Given the description of an element on the screen output the (x, y) to click on. 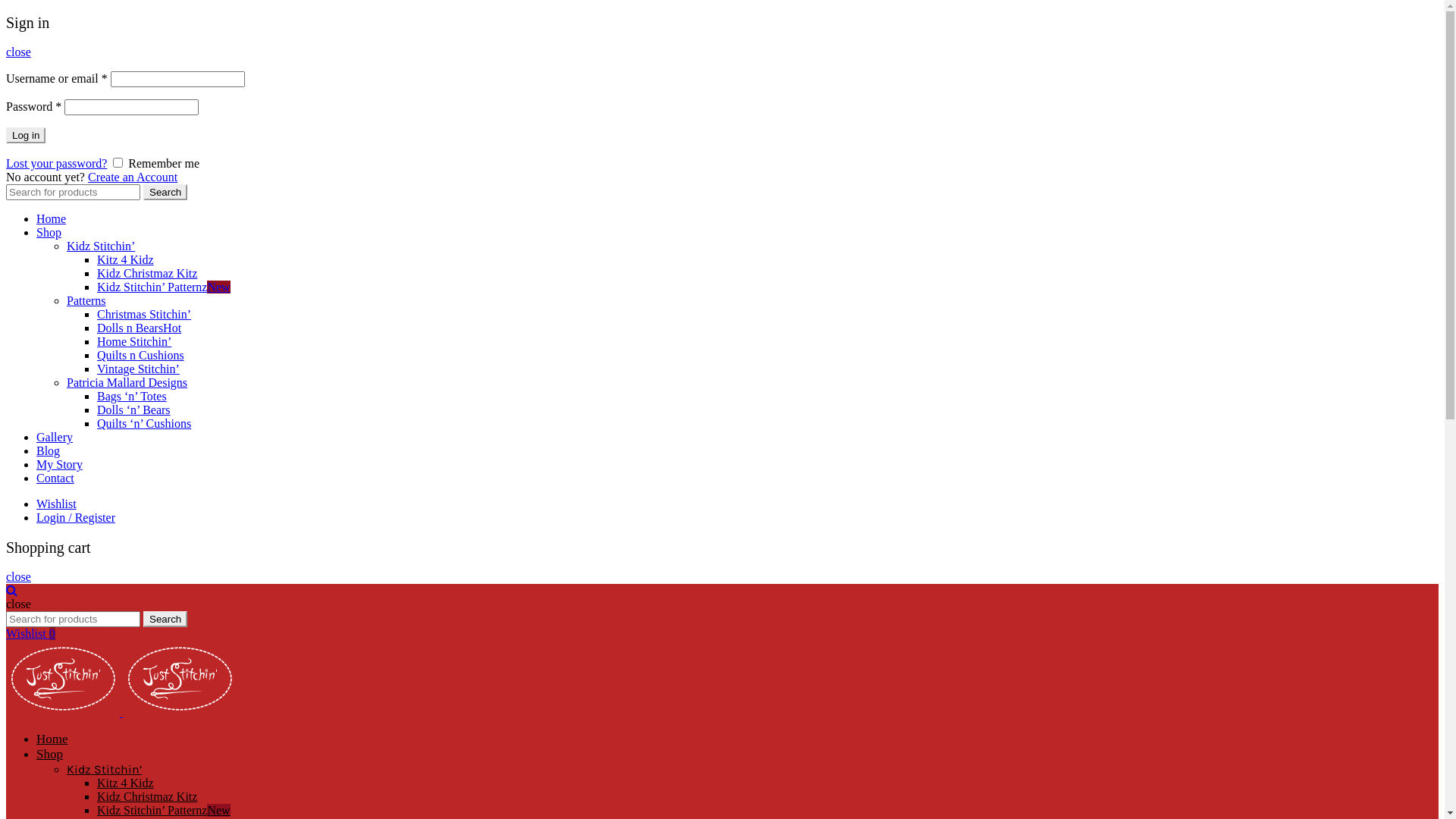
Patterns Element type: text (86, 300)
My Story Element type: text (59, 464)
Kidz Christmaz Kitz Element type: text (147, 796)
Kitz 4 Kidz Element type: text (125, 782)
Quilts n Cushions Element type: text (140, 354)
Shop Element type: text (48, 231)
Wishlist Element type: text (56, 503)
Blog Element type: text (47, 450)
Dolls n BearsHot Element type: text (139, 327)
Home Element type: text (50, 218)
Gallery Element type: text (54, 436)
Search Element type: text (165, 619)
Lost your password? Element type: text (56, 162)
Shop Element type: text (49, 753)
close Element type: text (18, 51)
Create an Account Element type: text (132, 176)
Log in Element type: text (25, 135)
Contact Element type: text (55, 477)
Login / Register Element type: text (75, 517)
Search Element type: text (165, 192)
close Element type: text (18, 576)
Wishlist 0 Element type: text (30, 633)
Home Element type: text (52, 738)
Patricia Mallard Designs Element type: text (126, 382)
Kidz Christmaz Kitz Element type: text (147, 272)
Kitz 4 Kidz Element type: text (125, 259)
